Given the description of an element on the screen output the (x, y) to click on. 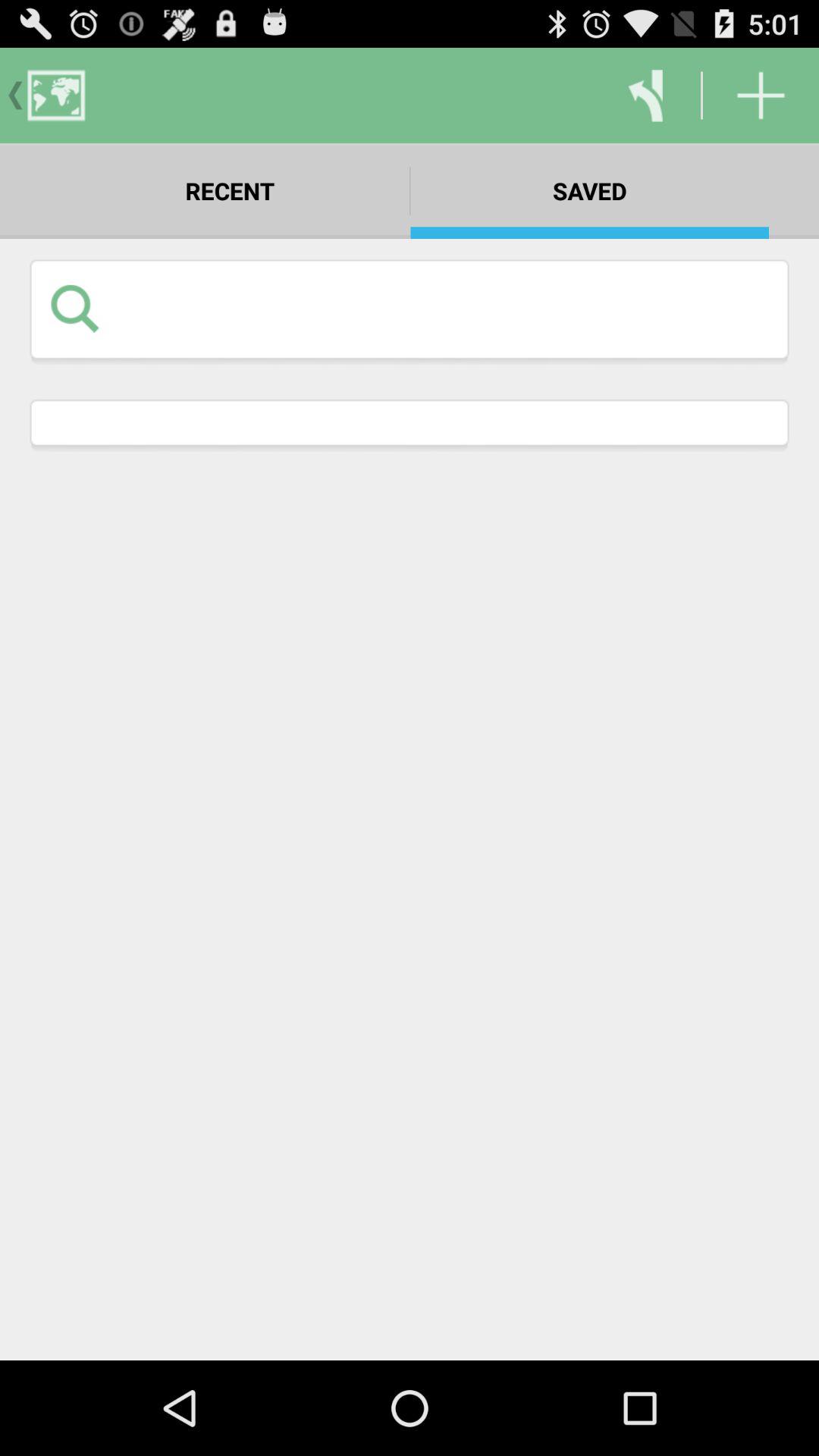
click to enter for searching (442, 308)
